Given the description of an element on the screen output the (x, y) to click on. 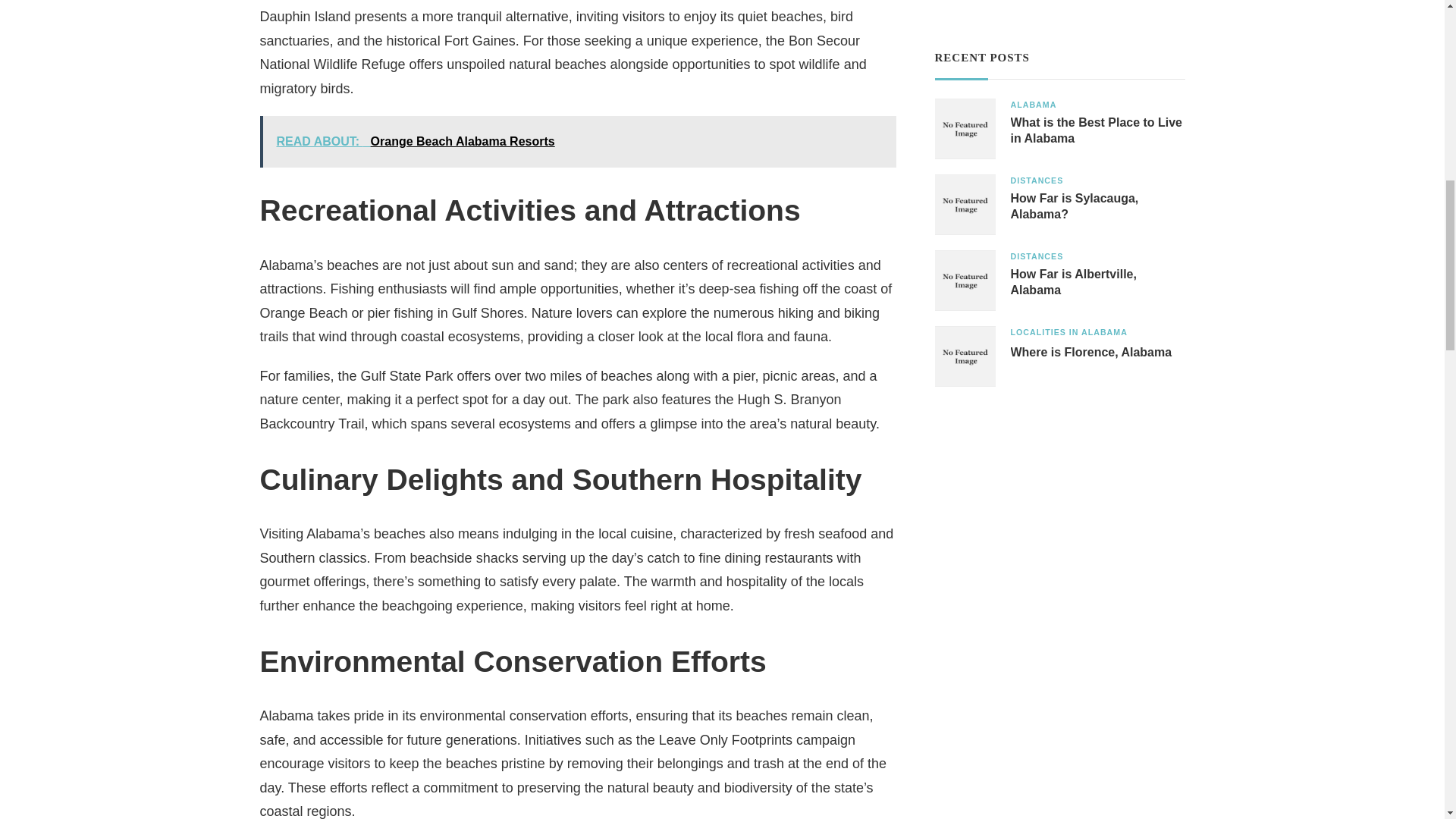
How Far is Sylacauga, Alabama? (1097, 206)
How Far is Albertville, Alabama (1097, 282)
What is the Best Place to Live in Alabama (1097, 131)
DISTANCES (1036, 180)
READ ABOUT:   Orange Beach Alabama Resorts (577, 141)
DISTANCES (1036, 256)
ALABAMA (1033, 104)
LOCALITIES IN ALABAMA (1068, 332)
Where is Florence, Alabama (1091, 352)
